Given the description of an element on the screen output the (x, y) to click on. 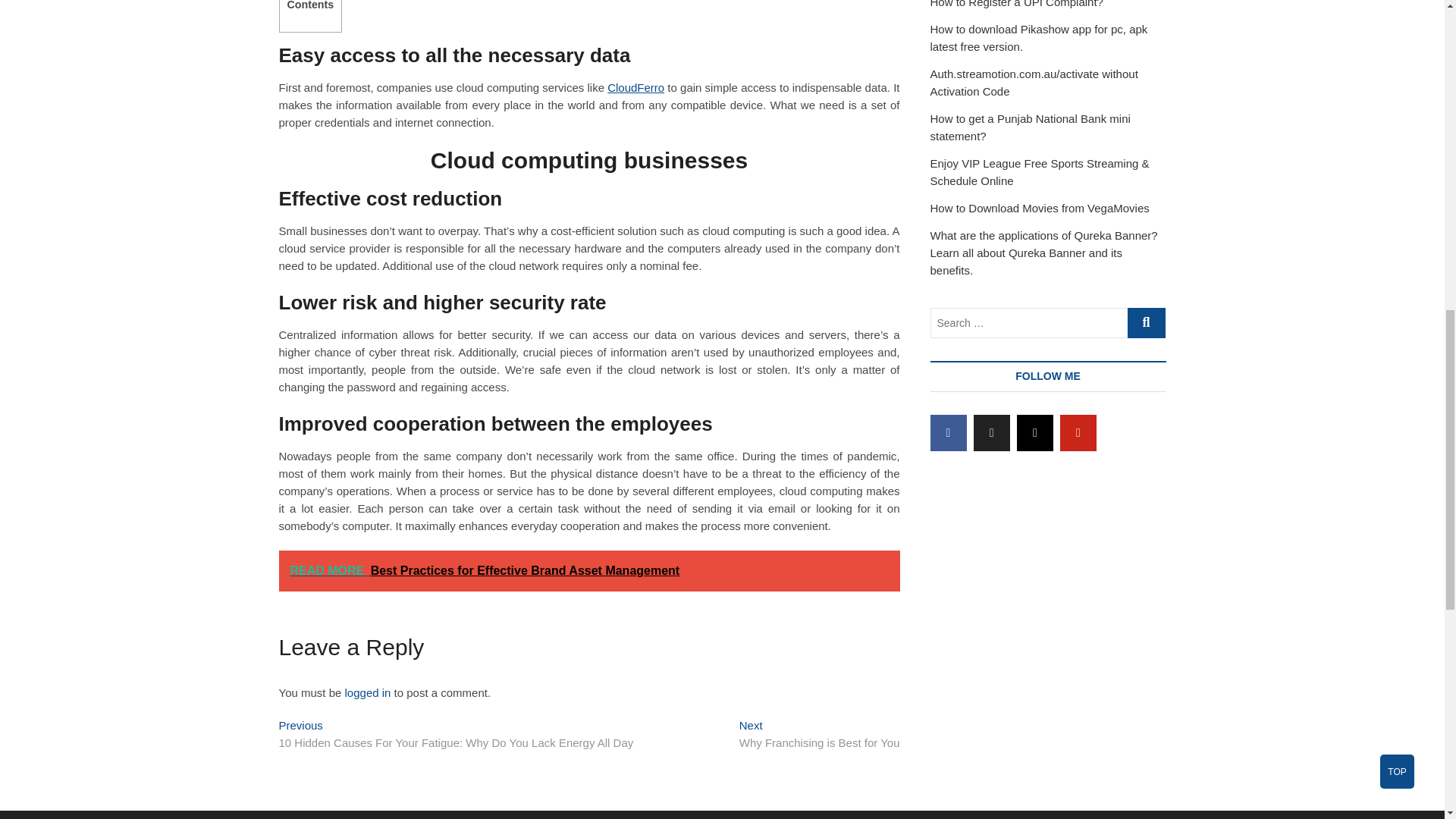
Facebook (948, 432)
CloudFerro (819, 735)
How to Register a UPI Complaint? (635, 87)
logged in (1016, 4)
